Given the description of an element on the screen output the (x, y) to click on. 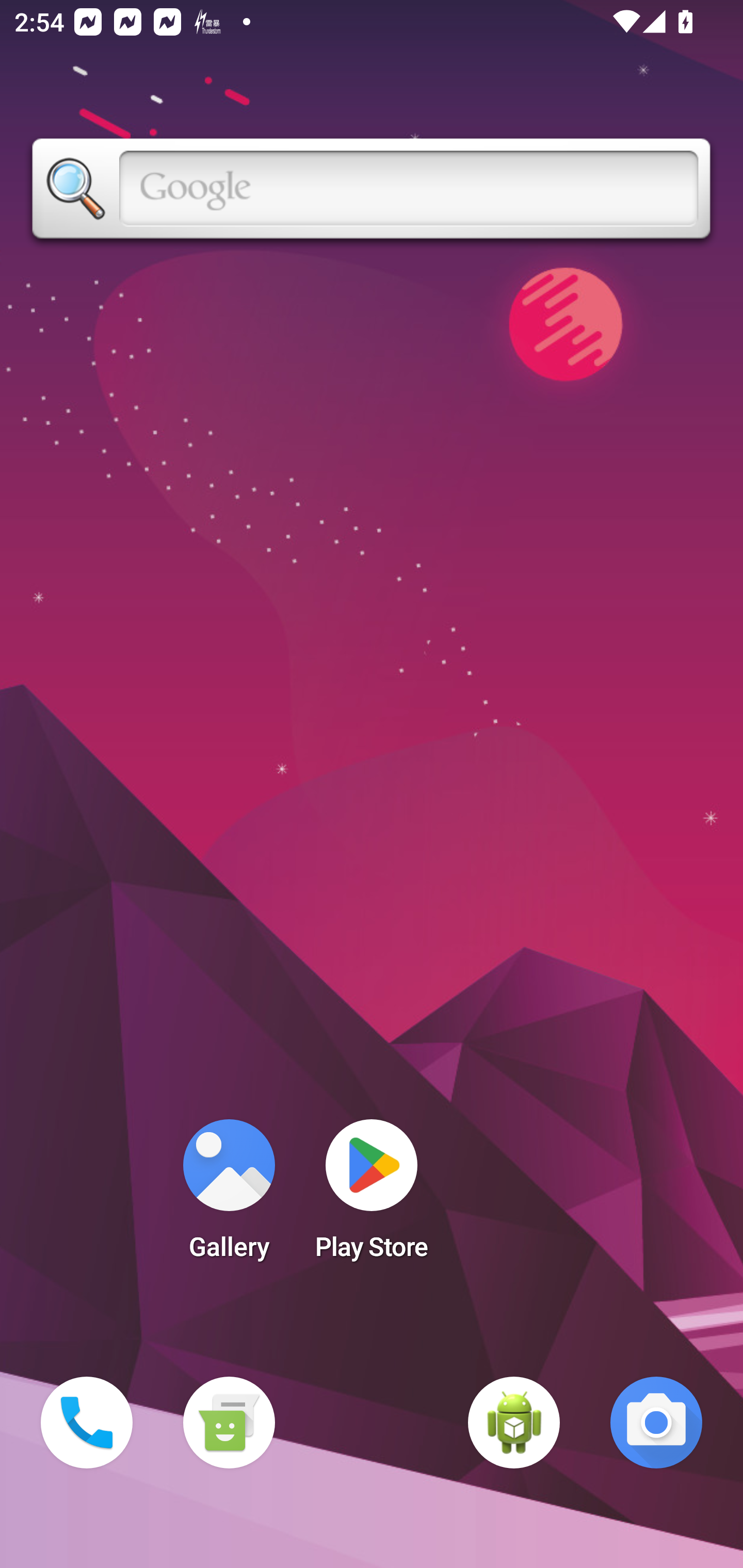
Gallery (228, 1195)
Play Store (371, 1195)
Phone (86, 1422)
Messaging (228, 1422)
WebView Browser Tester (513, 1422)
Camera (656, 1422)
